Given the description of an element on the screen output the (x, y) to click on. 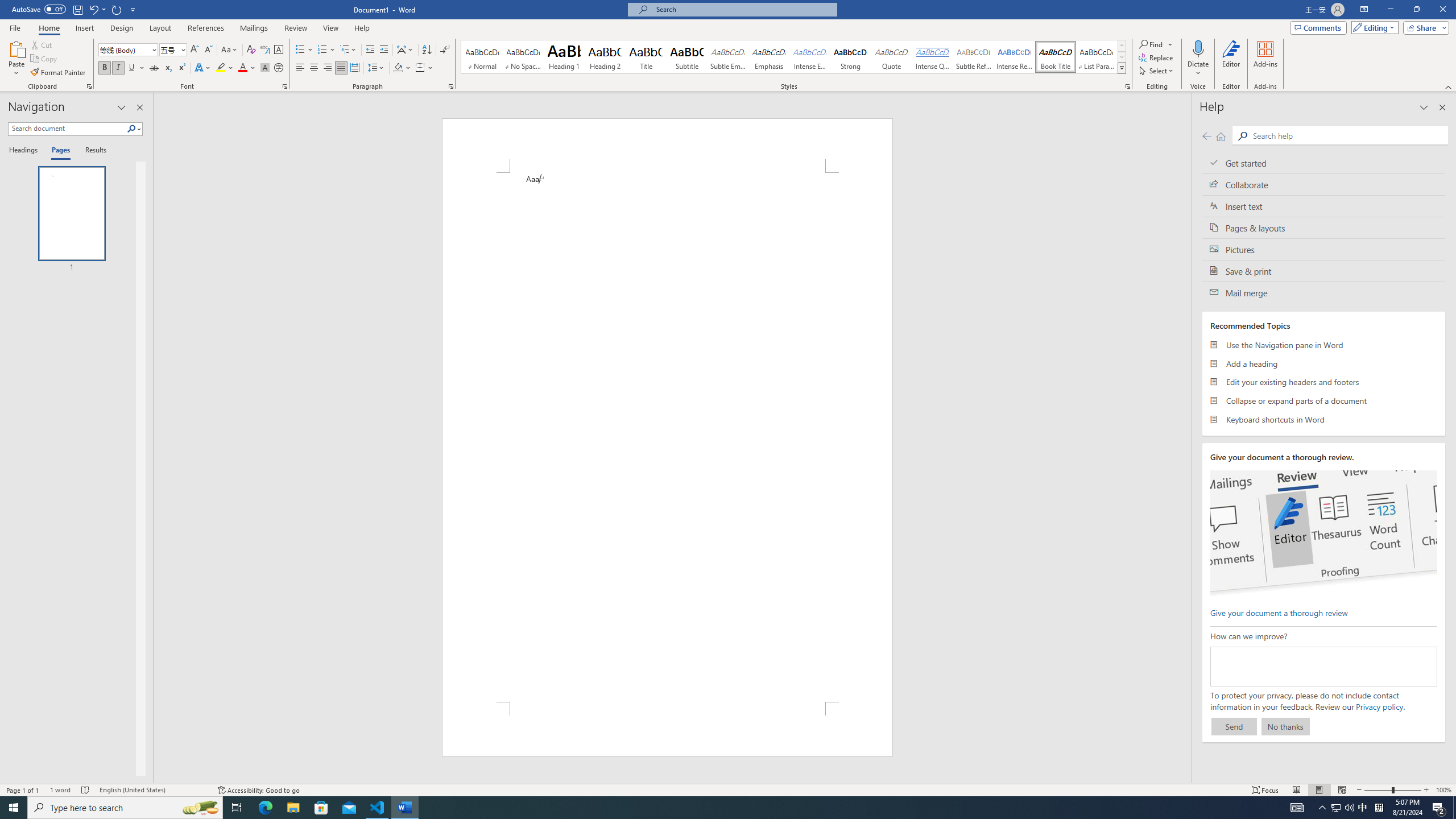
Edit your existing headers and footers (1323, 381)
Pictures (1323, 249)
Font Color Red (241, 67)
